Given the description of an element on the screen output the (x, y) to click on. 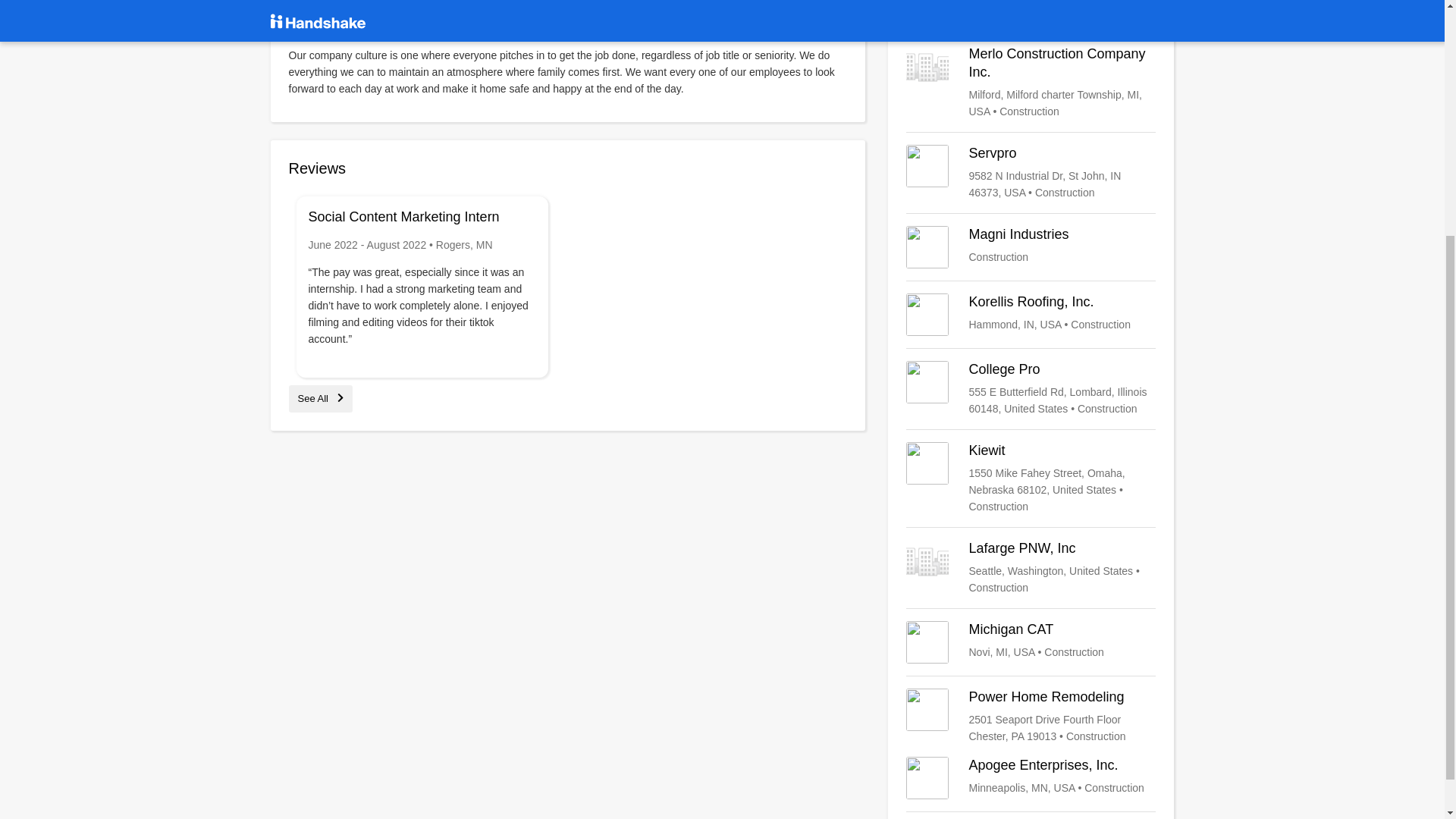
Apogee Enterprises, Inc. (1030, 777)
Merlo Construction Company Inc. (1030, 82)
Korellis Roofing, Inc. (1030, 314)
See All (320, 398)
Lafarge PNW, Inc (1030, 567)
Power Home Remodeling (1030, 716)
College Pro (1030, 388)
Magni Industries (1030, 247)
Michigan CAT (1030, 641)
Servpro (1030, 172)
Kiewit (1030, 478)
